Given the description of an element on the screen output the (x, y) to click on. 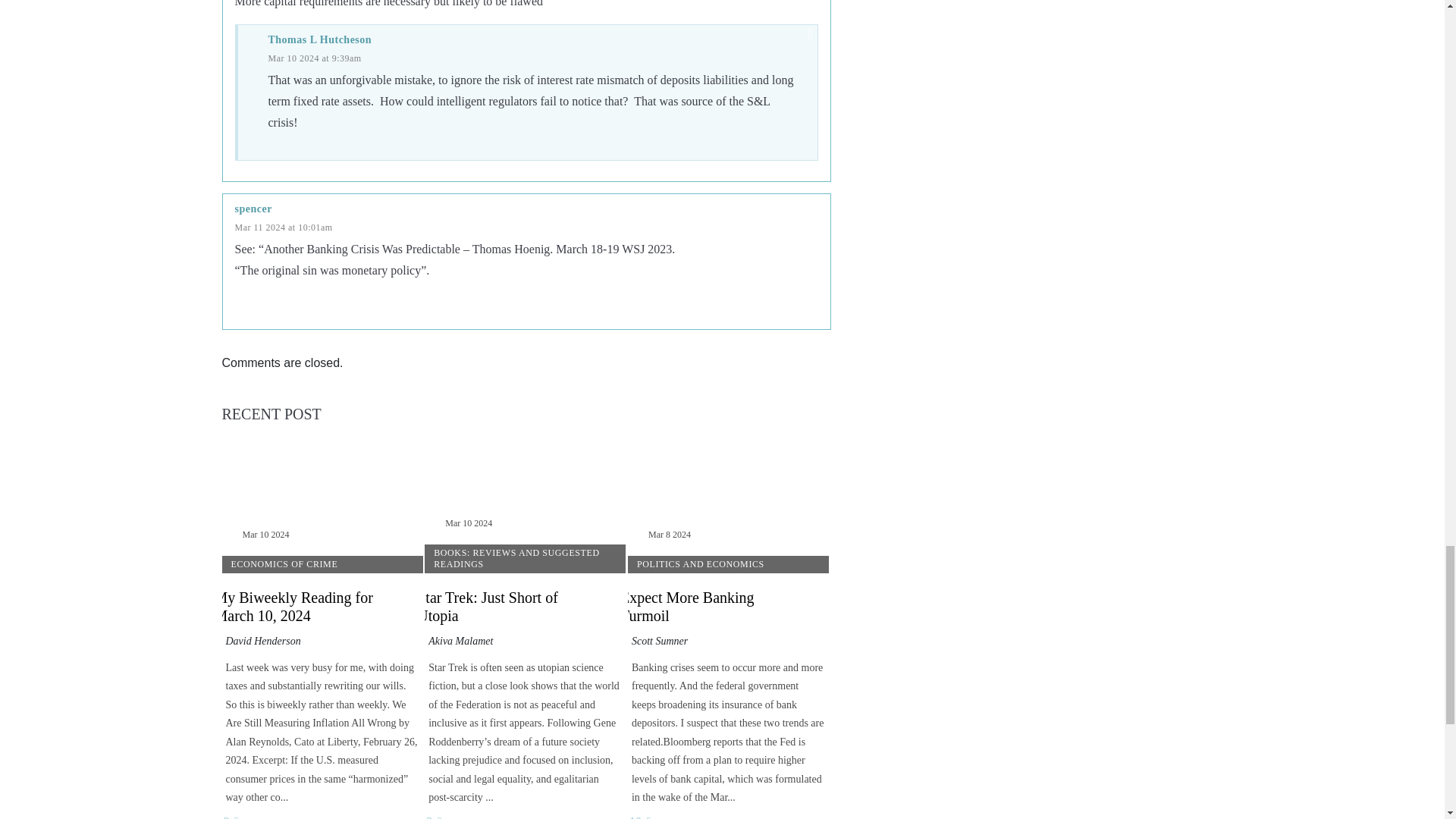
Scott Sumner (659, 641)
Akiva Malamet (460, 641)
David Henderson (263, 641)
